Given the description of an element on the screen output the (x, y) to click on. 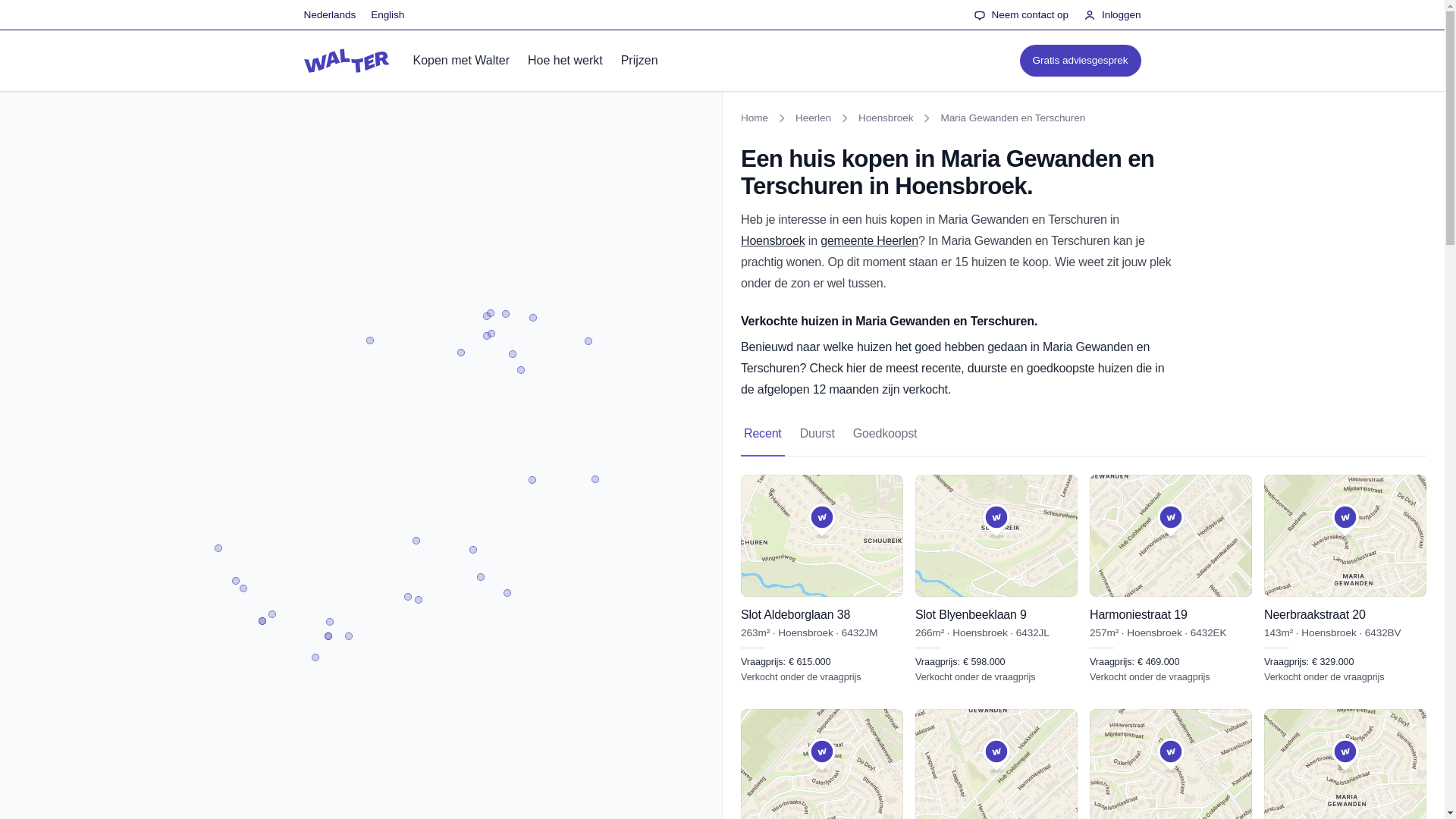
Duurst (817, 434)
Neem contact op (1021, 14)
Neerbraakstraat 12, Hoensbroek (1344, 763)
Homepage (345, 60)
Nederlands (328, 14)
Gratis adviesgesprek (1079, 60)
Nederlands (328, 14)
Maria-Gewandenstraat 16, Hoensbroek (996, 763)
Hoensbroek (885, 117)
Inloggen (1111, 14)
